Given the description of an element on the screen output the (x, y) to click on. 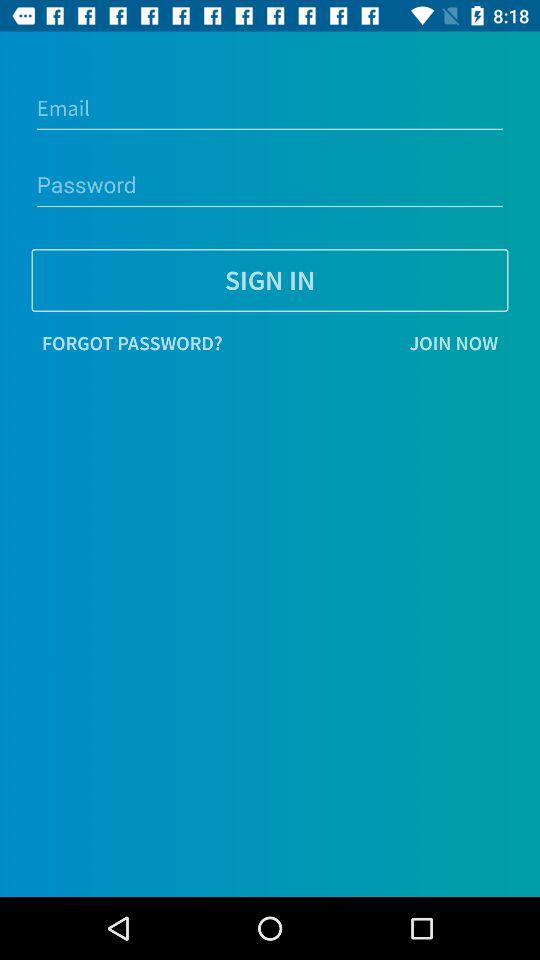
tap forgot password? on the left (132, 343)
